Given the description of an element on the screen output the (x, y) to click on. 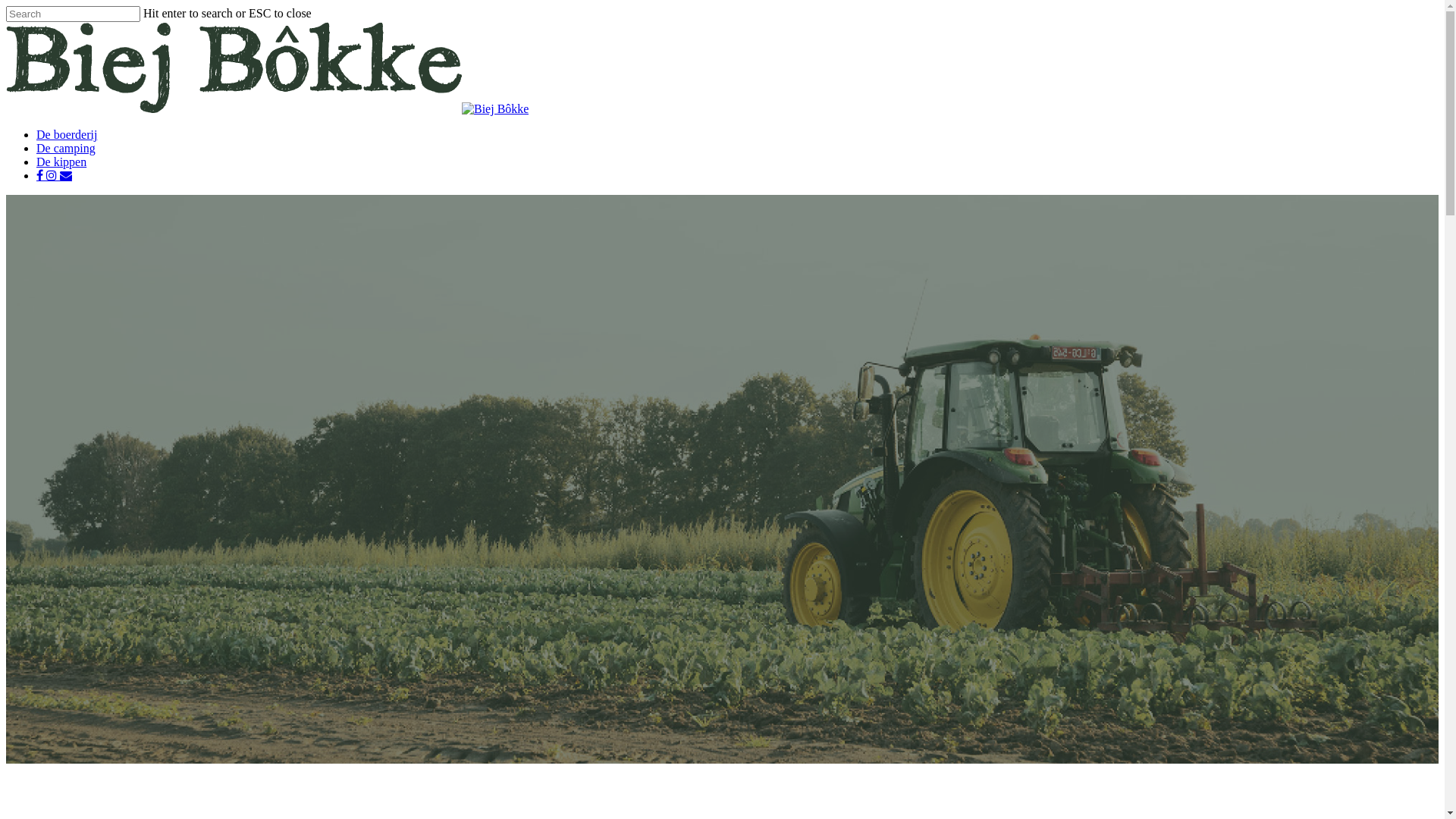
Skip to main content Element type: text (5, 5)
De camping Element type: text (65, 147)
instagram Element type: text (52, 175)
De kippen Element type: text (61, 161)
De boerderij Element type: text (66, 134)
facebook Element type: text (41, 175)
email Element type: text (65, 175)
